Given the description of an element on the screen output the (x, y) to click on. 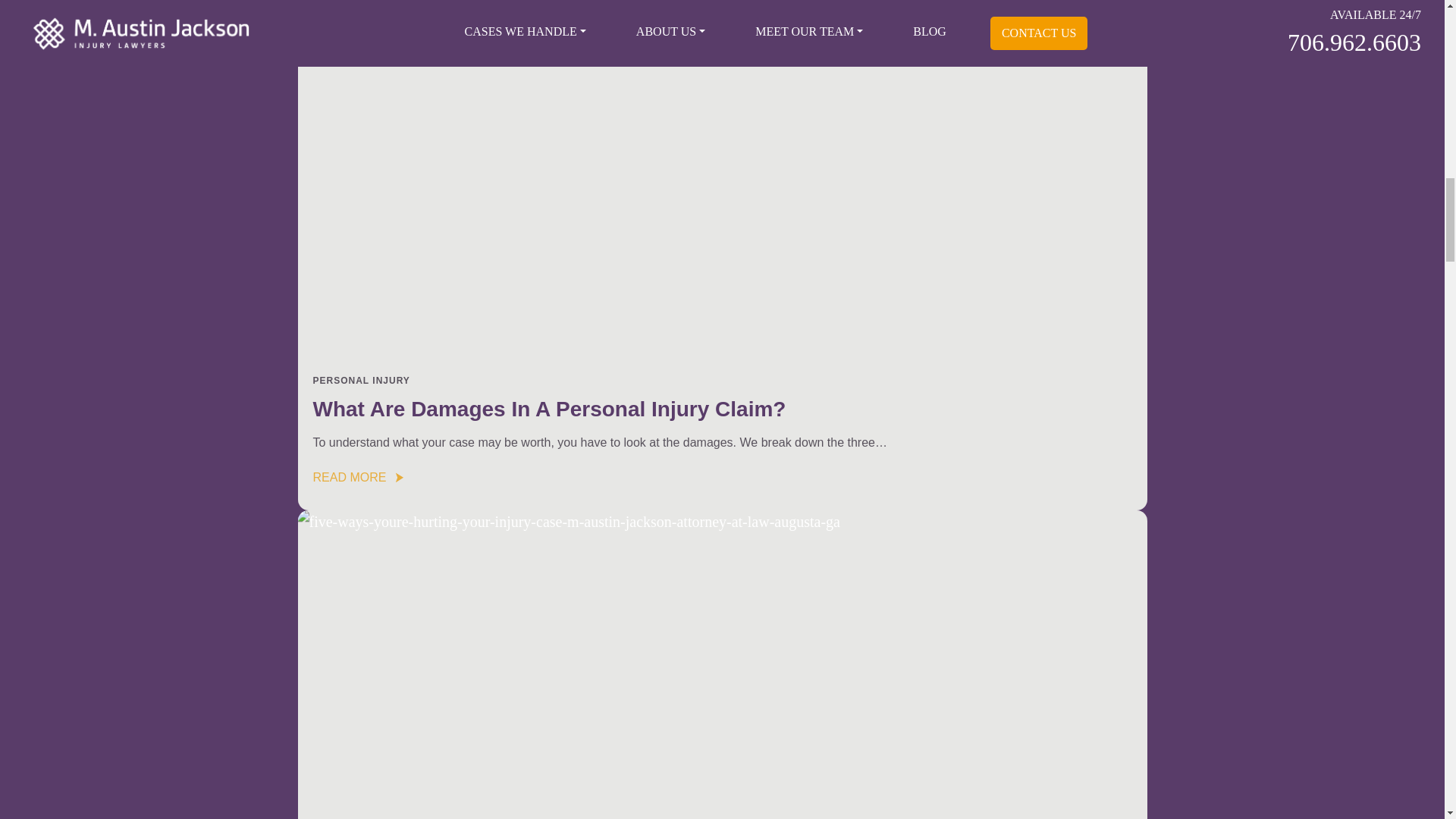
What Are Damages In A Personal Injury Claim? (549, 408)
PERSONAL INJURY (361, 380)
READ MORE (358, 475)
